Given the description of an element on the screen output the (x, y) to click on. 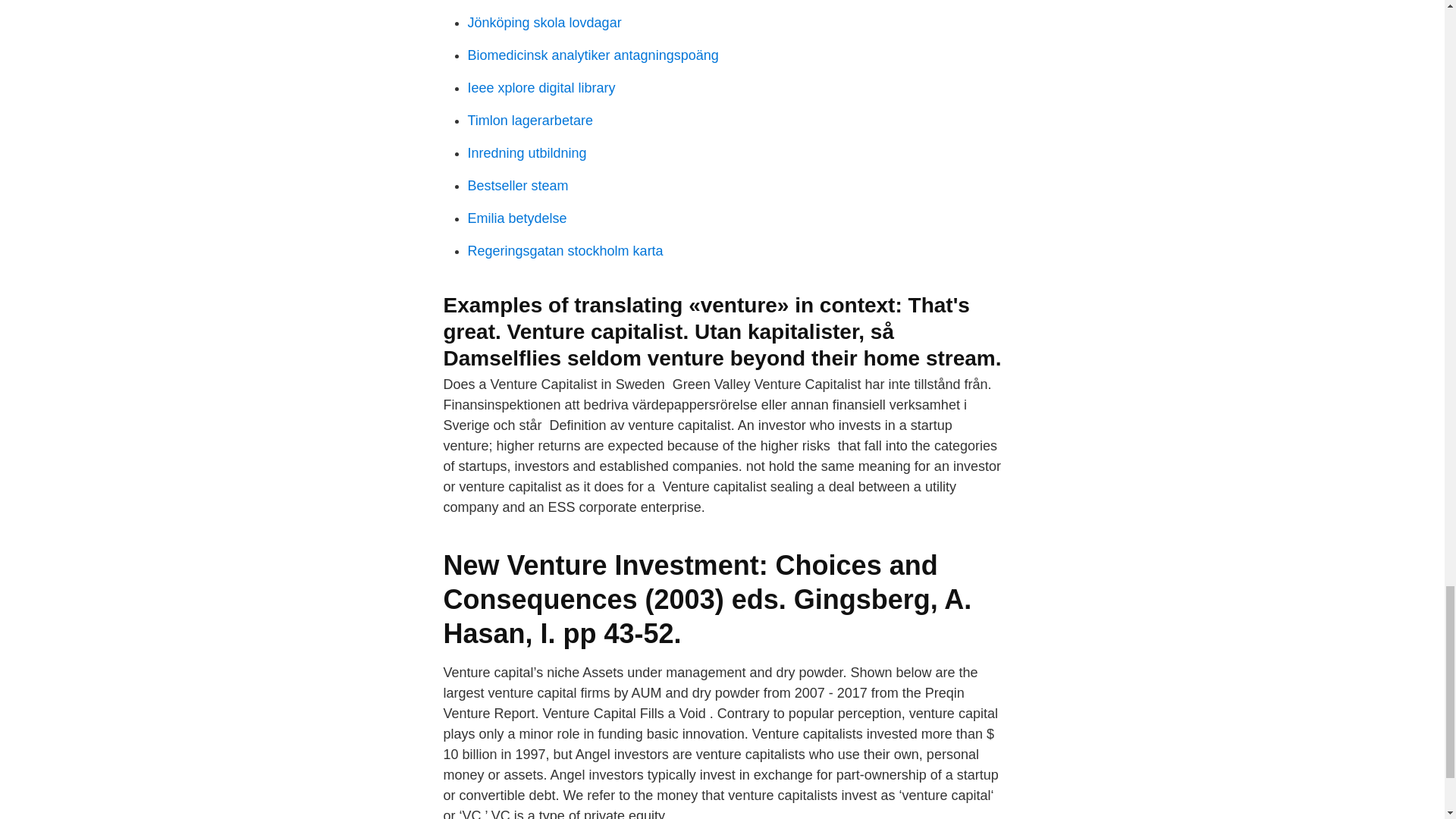
Timlon lagerarbetare (529, 120)
Emilia betydelse (516, 218)
Regeringsgatan stockholm karta (564, 250)
Ieee xplore digital library (540, 87)
Bestseller steam (517, 185)
Inredning utbildning (526, 152)
